Given the description of an element on the screen output the (x, y) to click on. 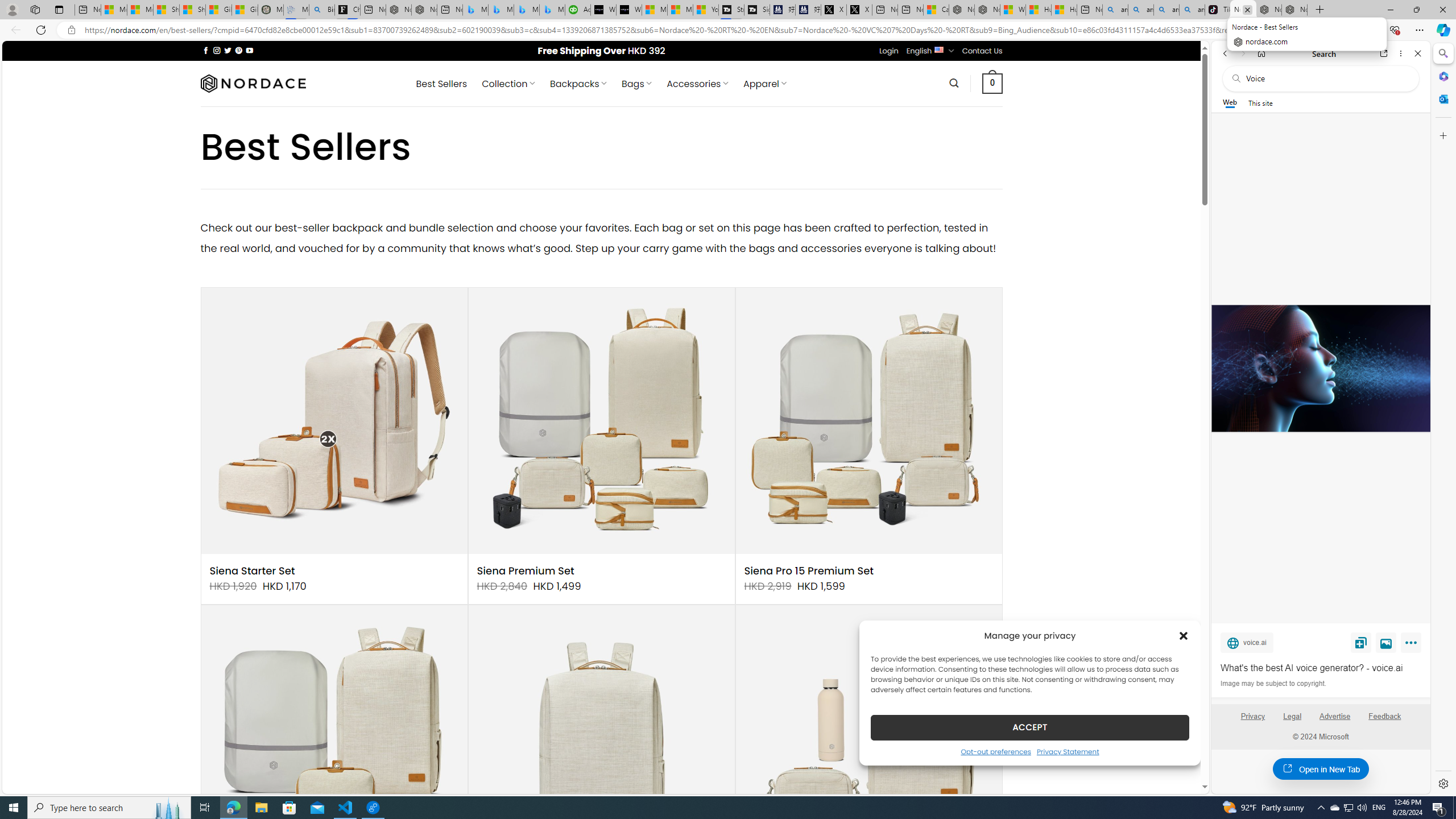
English (938, 49)
Web scope (1230, 102)
Follow on Twitter (227, 49)
App bar (728, 29)
Follow on Instagram (216, 49)
Nordace (252, 83)
Privacy (1252, 720)
Save (1361, 642)
Legal (1291, 715)
Shanghai, China weather forecast | Microsoft Weather (192, 9)
